Given the description of an element on the screen output the (x, y) to click on. 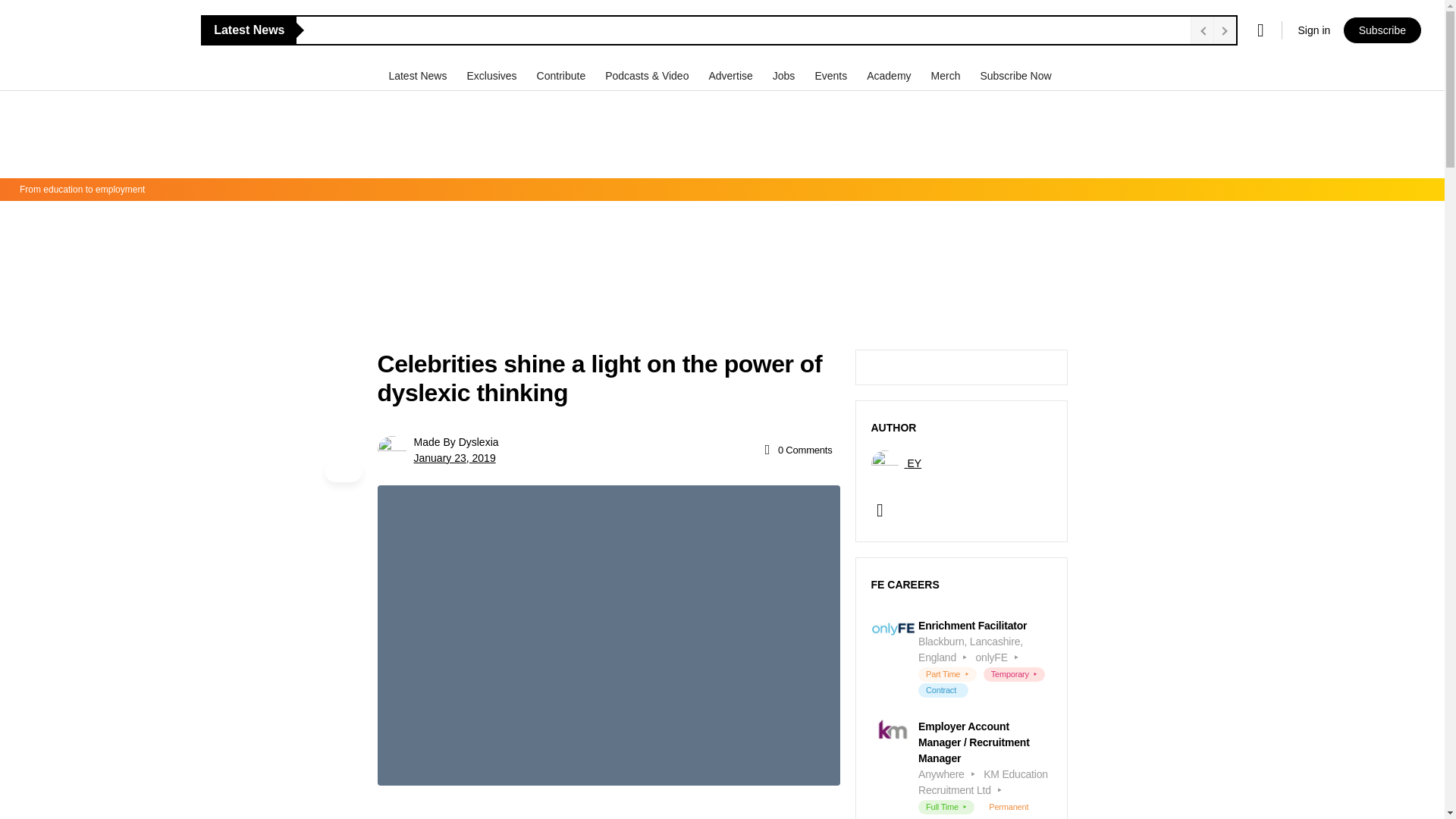
Exclusives (493, 75)
Sign in (1313, 30)
Latest News (419, 75)
Subscribe (1382, 30)
